Given the description of an element on the screen output the (x, y) to click on. 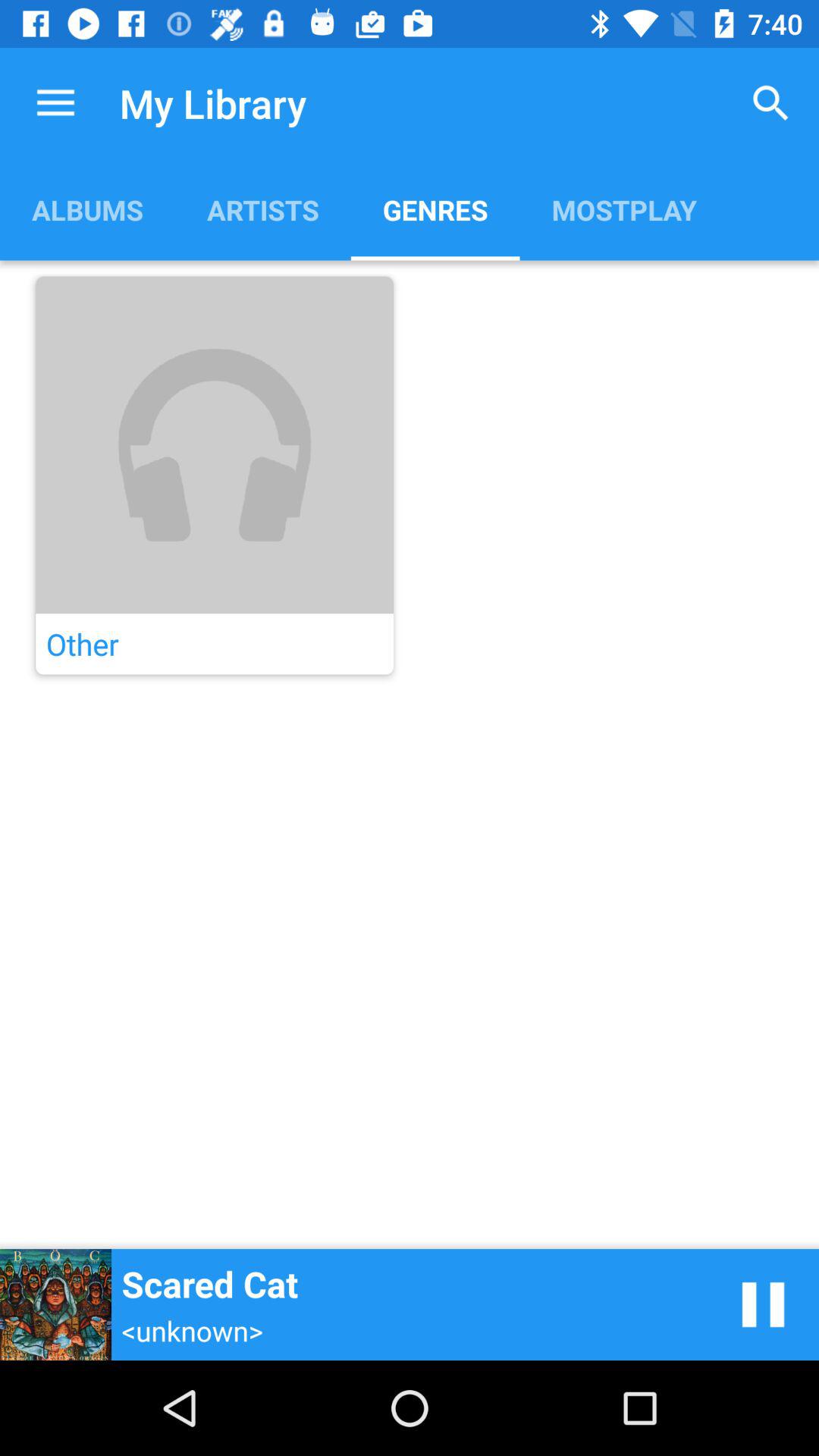
choose the icon next to the genres item (262, 209)
